Given the description of an element on the screen output the (x, y) to click on. 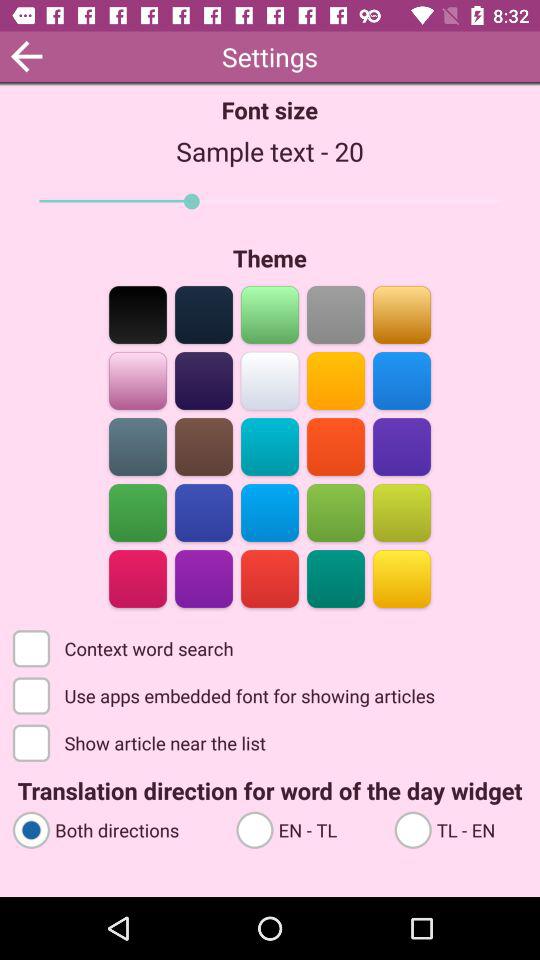
select the color bar (401, 313)
